Given the description of an element on the screen output the (x, y) to click on. 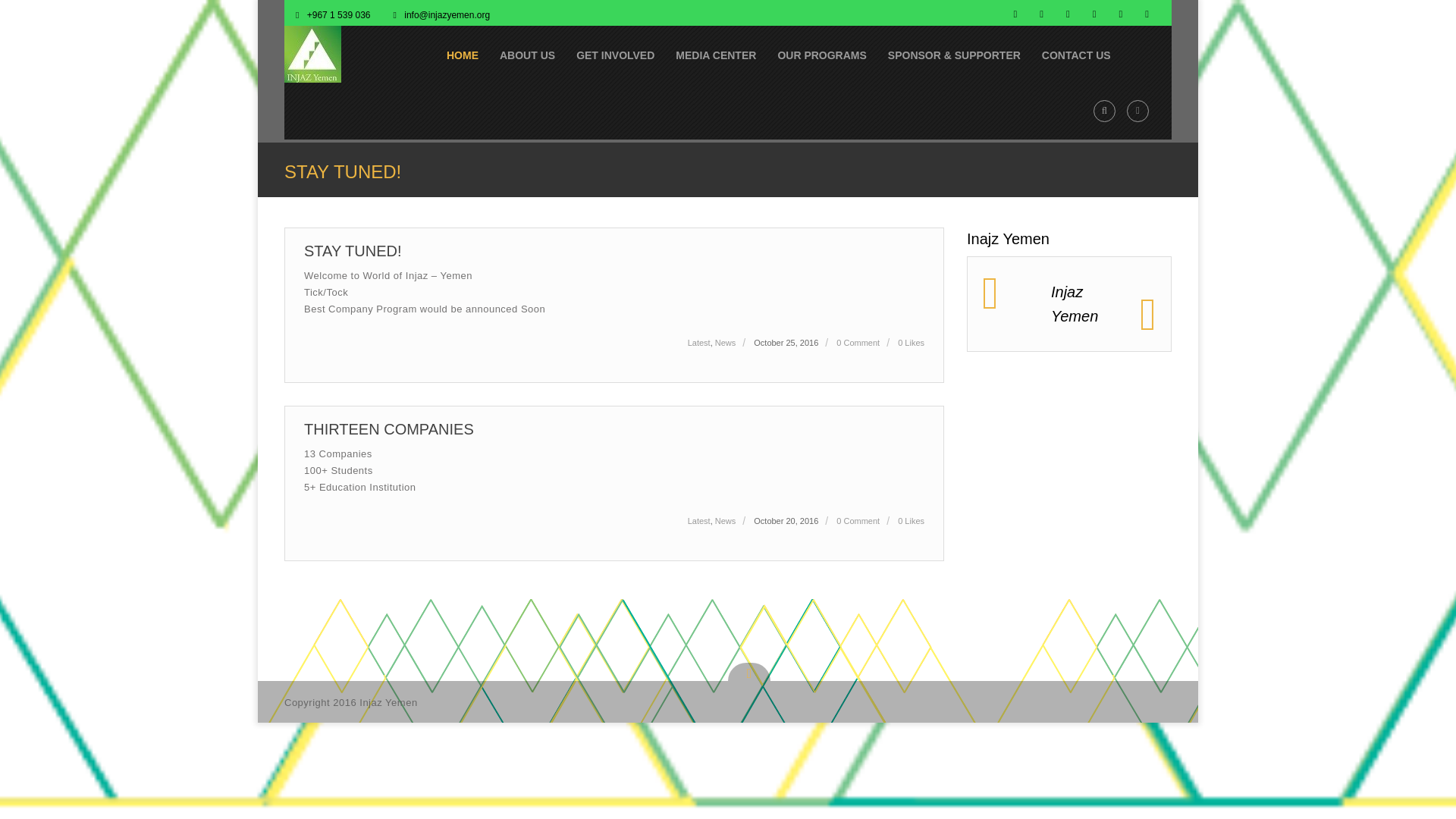
MEDIA CENTER (716, 53)
OUR PROGRAMS (821, 53)
GET INVOLVED (615, 53)
ABOUT US (527, 53)
HOME (462, 53)
